Given the description of an element on the screen output the (x, y) to click on. 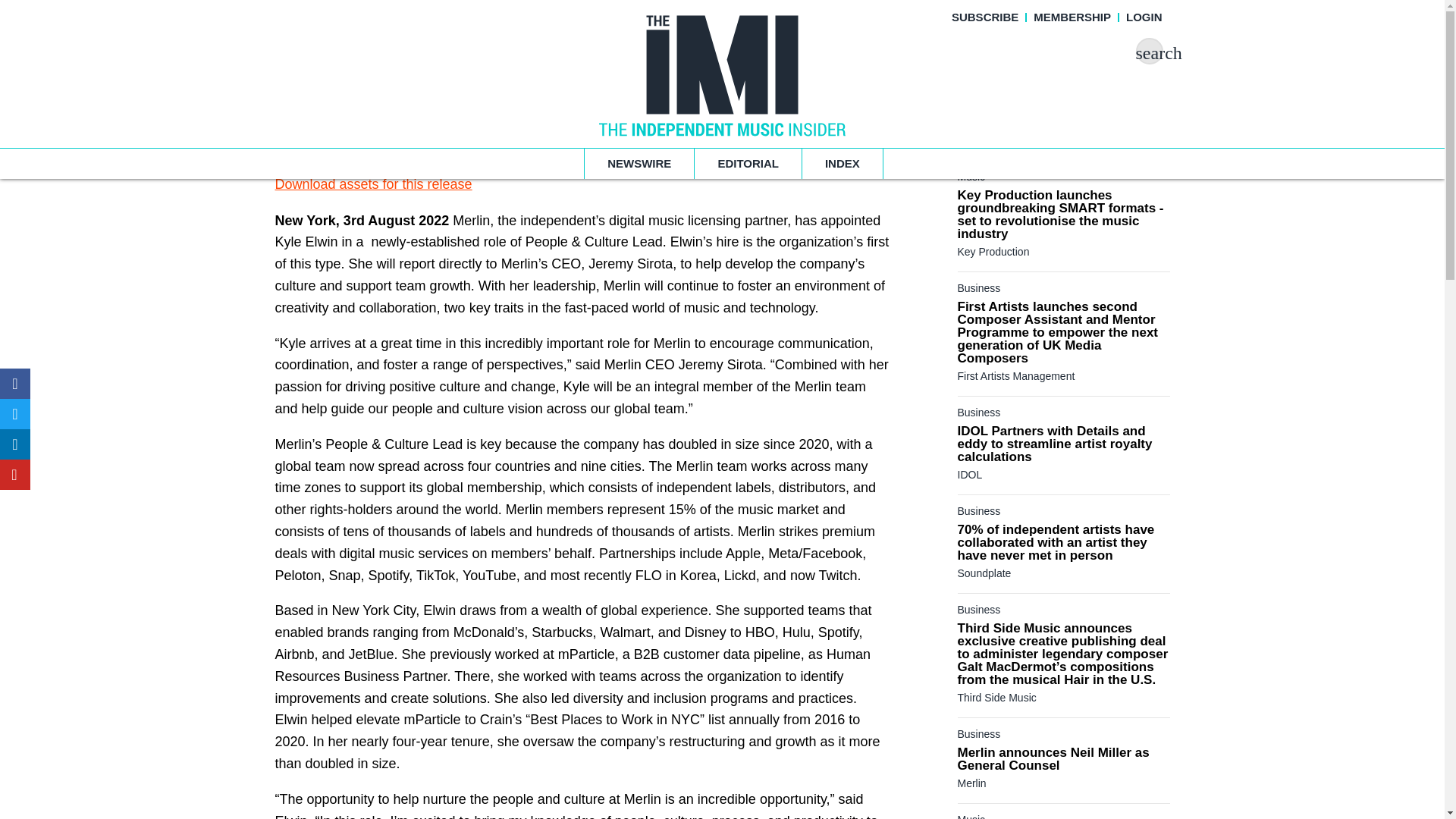
MEMBERSHIP (1071, 16)
Download assets for this release (373, 184)
INDEX (842, 163)
NEWSWIRE (639, 163)
LOGIN (1143, 16)
SUBSCRIBE (984, 16)
Merlin announces Neil Miller as General Counsel (1052, 759)
search (1148, 50)
EDITORIAL (747, 163)
